Given the description of an element on the screen output the (x, y) to click on. 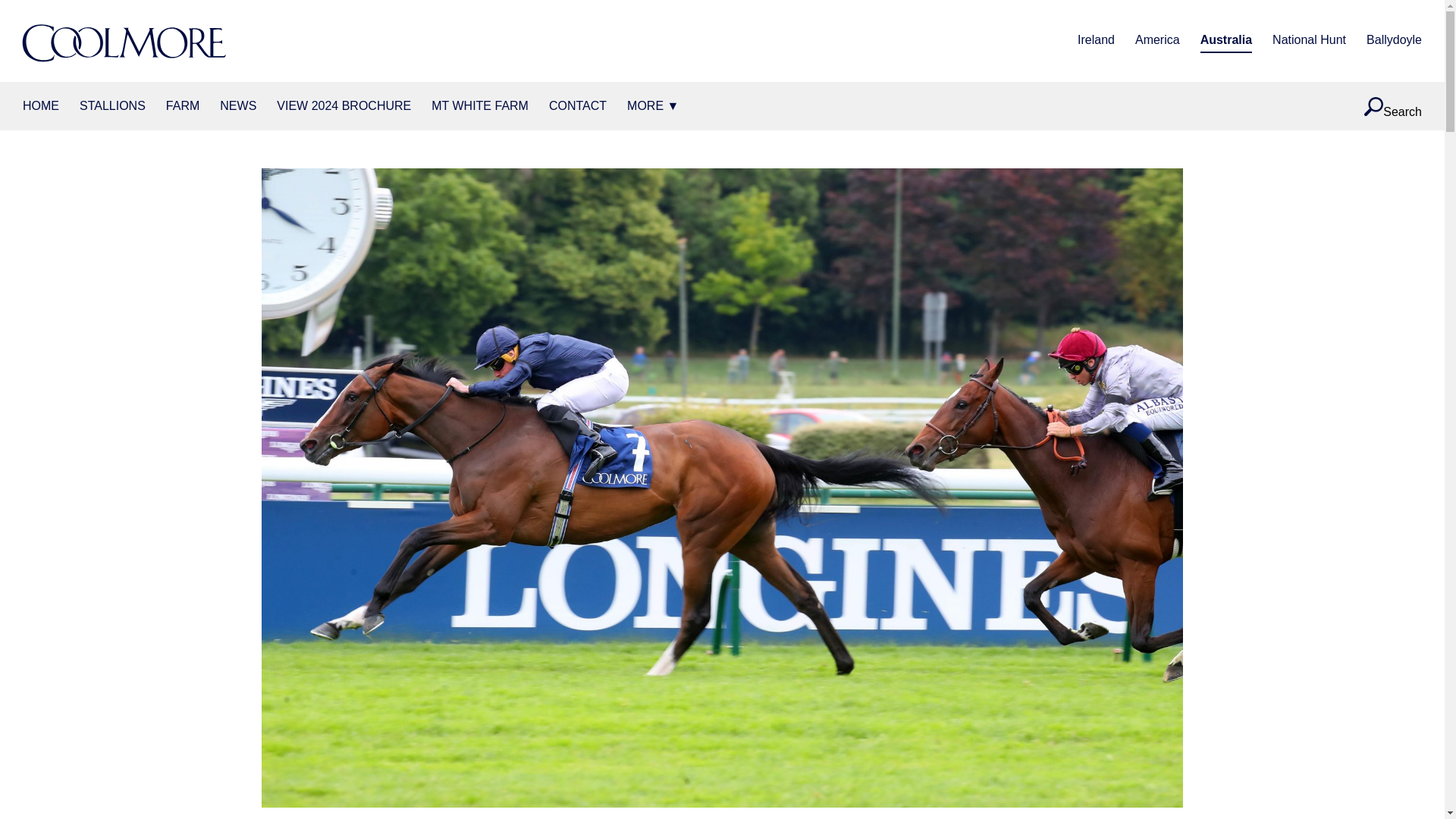
View 2024 Brochure (343, 106)
FARM (182, 106)
Australia (1225, 40)
Stallions (112, 106)
HOME (41, 106)
Farm (182, 106)
STALLIONS (112, 106)
America (1157, 40)
National Hunt (1308, 40)
NEWS (237, 106)
Ballydoyle (1394, 40)
icon-magCreated with Sketch. (1373, 106)
Ireland (1096, 40)
Mt White Farm (479, 106)
Contact (577, 106)
